Given the description of an element on the screen output the (x, y) to click on. 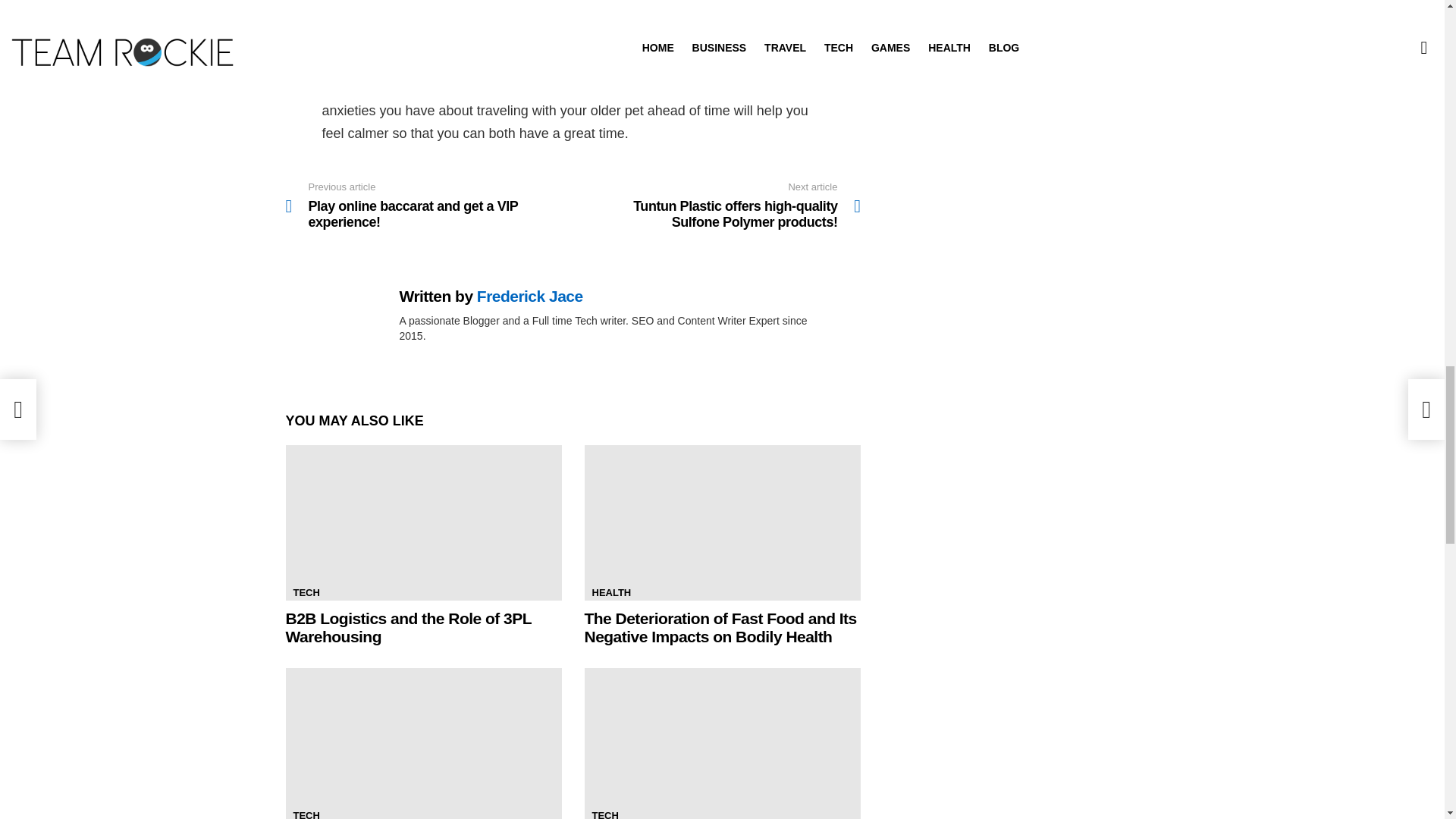
TECH (305, 813)
TECH (604, 813)
Frederick Jace (530, 295)
HEALTH (611, 592)
B2B Logistics and the Role of 3PL Warehousing (422, 522)
B2B Logistics and the Role of 3PL Warehousing (408, 627)
TECH (305, 592)
